Given the description of an element on the screen output the (x, y) to click on. 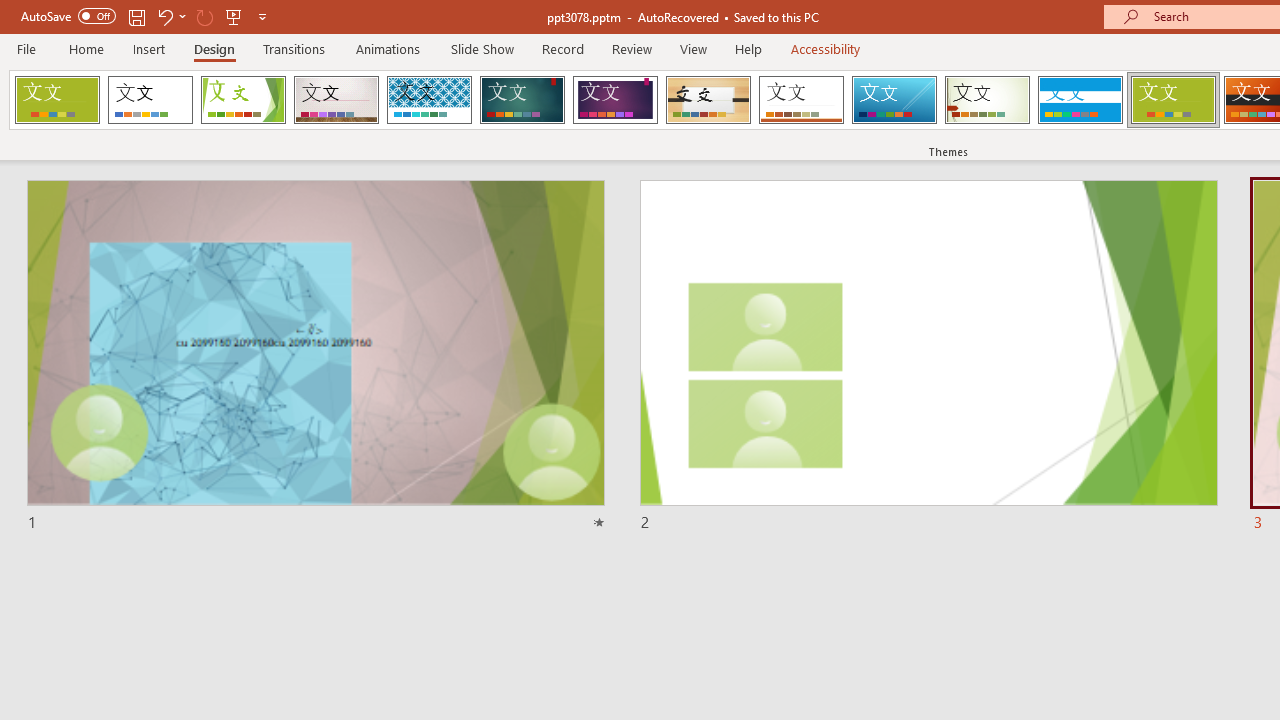
Organic (708, 100)
Banded (1080, 100)
